Given the description of an element on the screen output the (x, y) to click on. 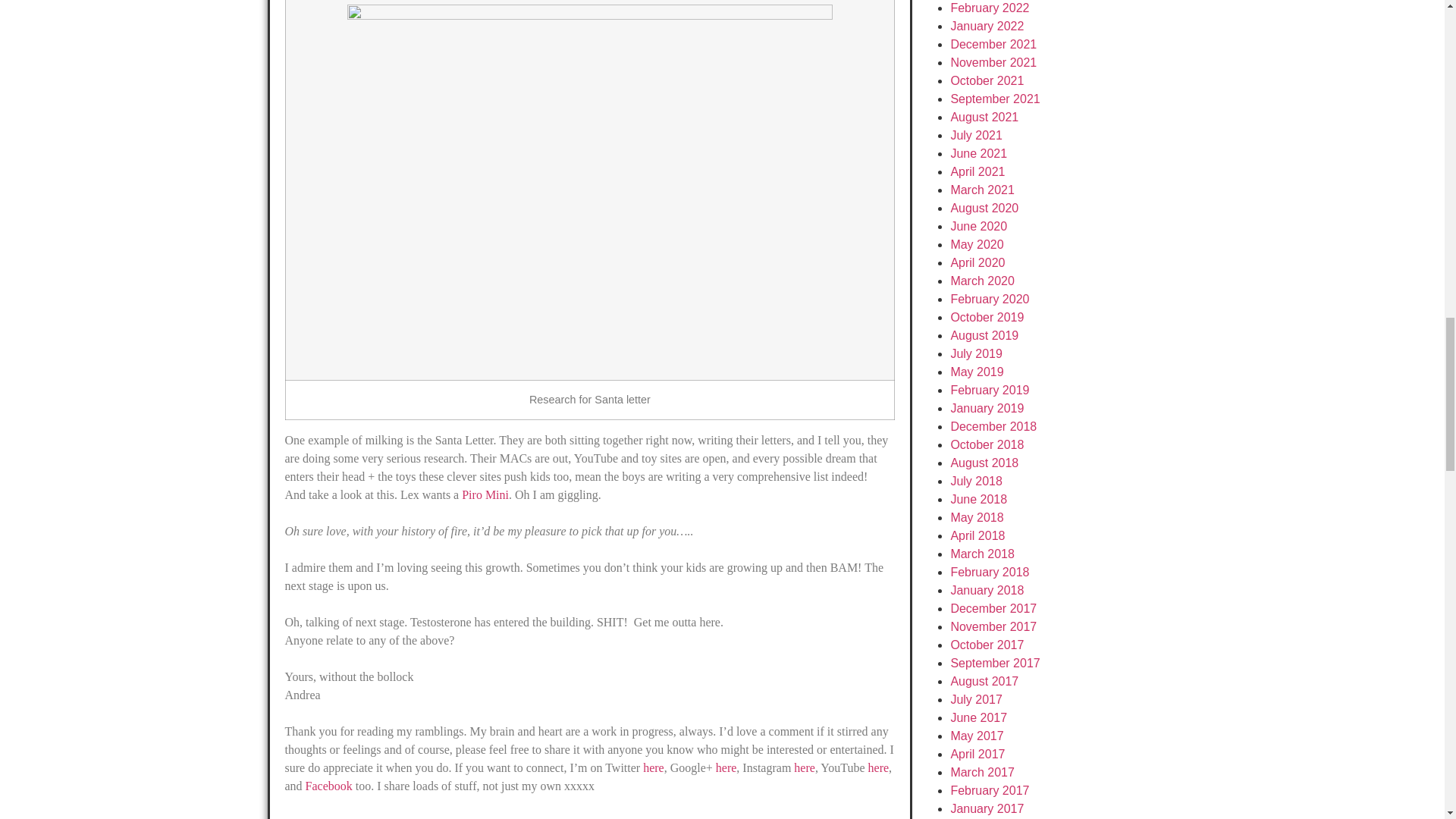
here (726, 767)
here (653, 767)
here (804, 767)
Piro Mini (484, 494)
